Given the description of an element on the screen output the (x, y) to click on. 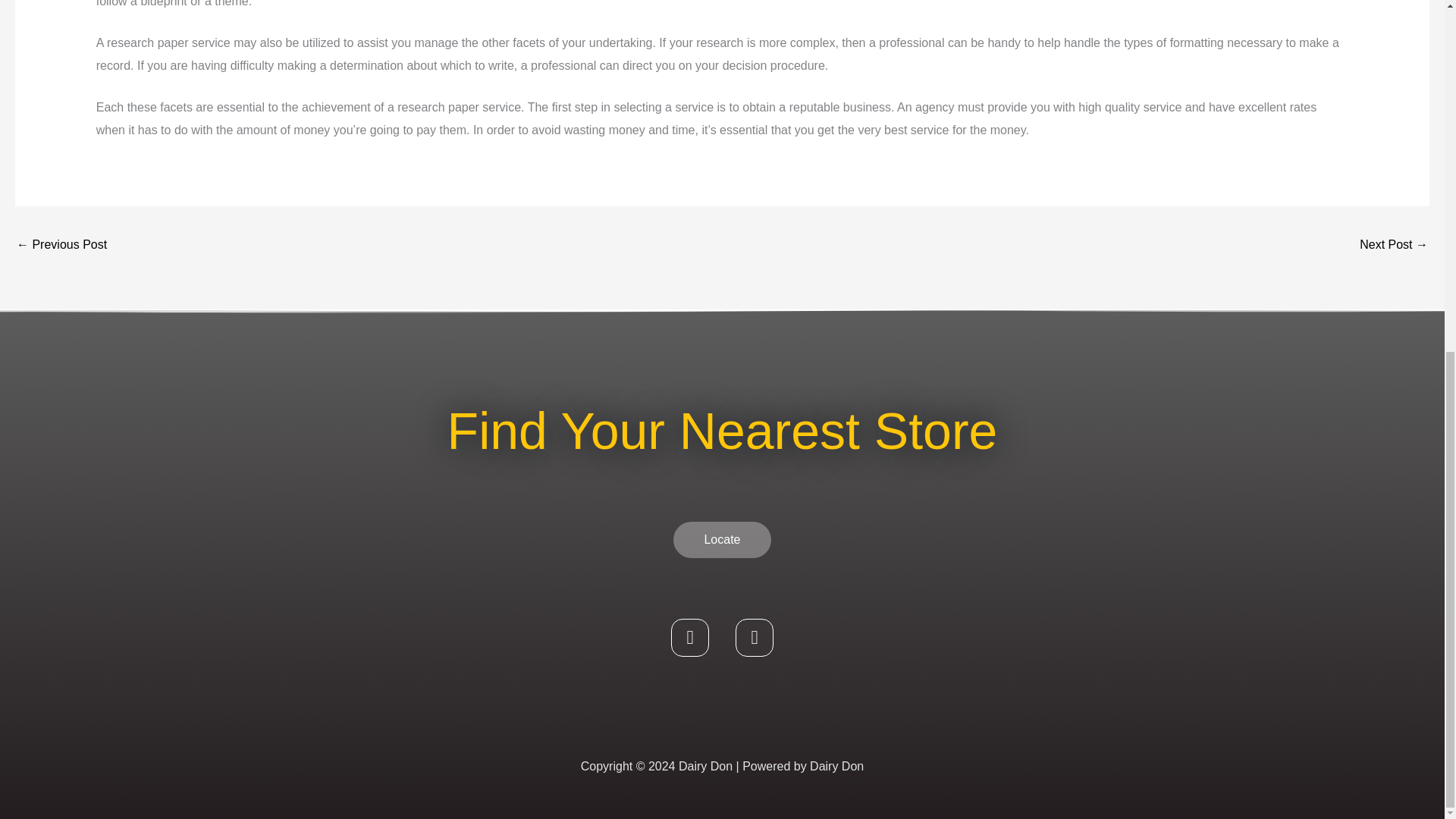
Locate (721, 539)
Facebook (690, 637)
Instagram (754, 637)
